Given the description of an element on the screen output the (x, y) to click on. 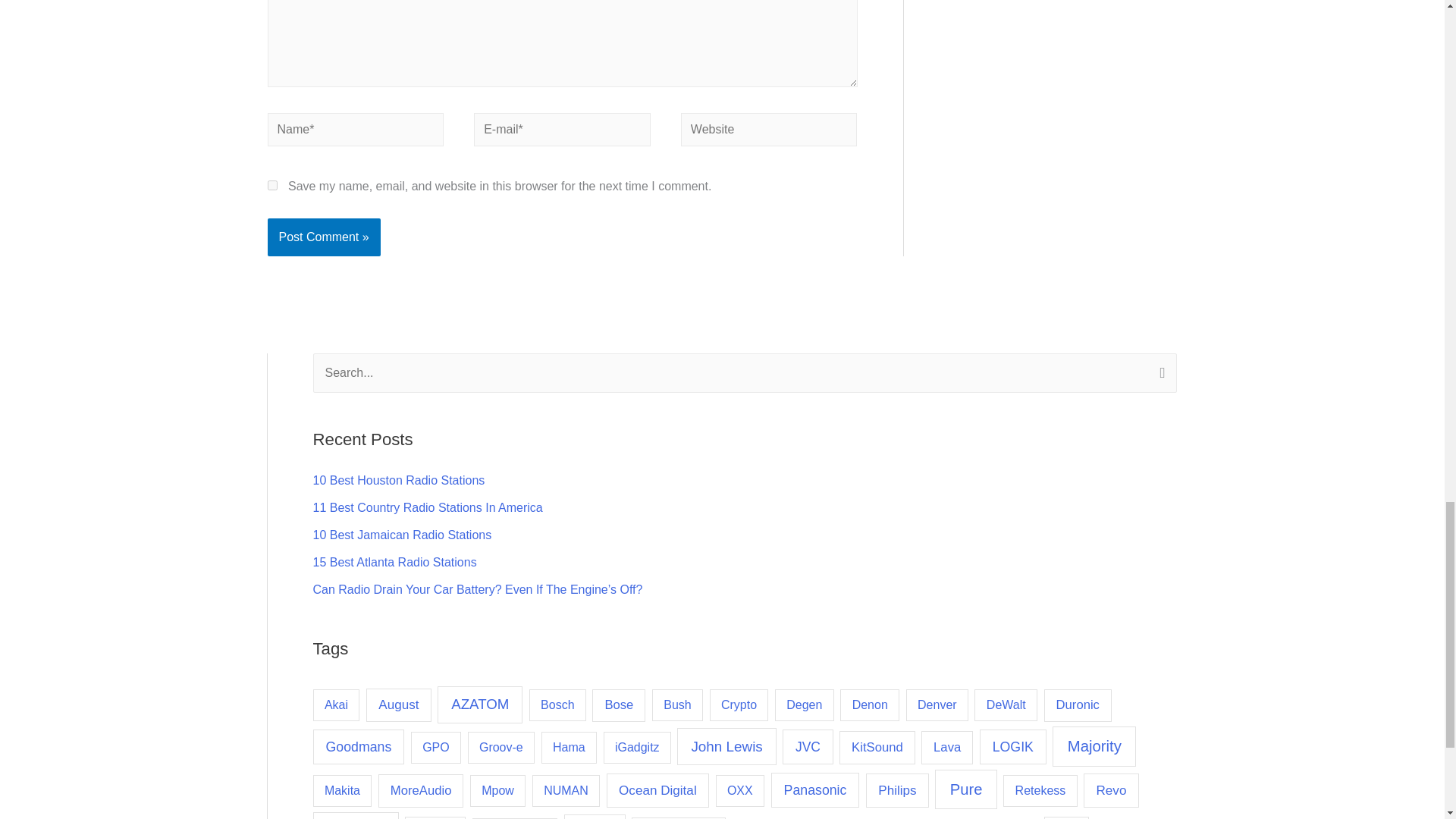
10 Best Houston Radio Stations (398, 480)
Duronic (1077, 705)
Hama (568, 747)
GPO (435, 747)
Bush (677, 705)
10 Best Jamaican Radio Stations (402, 534)
Denon (869, 705)
15 Best Atlanta Radio Stations (394, 562)
DeWalt (1005, 705)
Akai (336, 705)
